Given the description of an element on the screen output the (x, y) to click on. 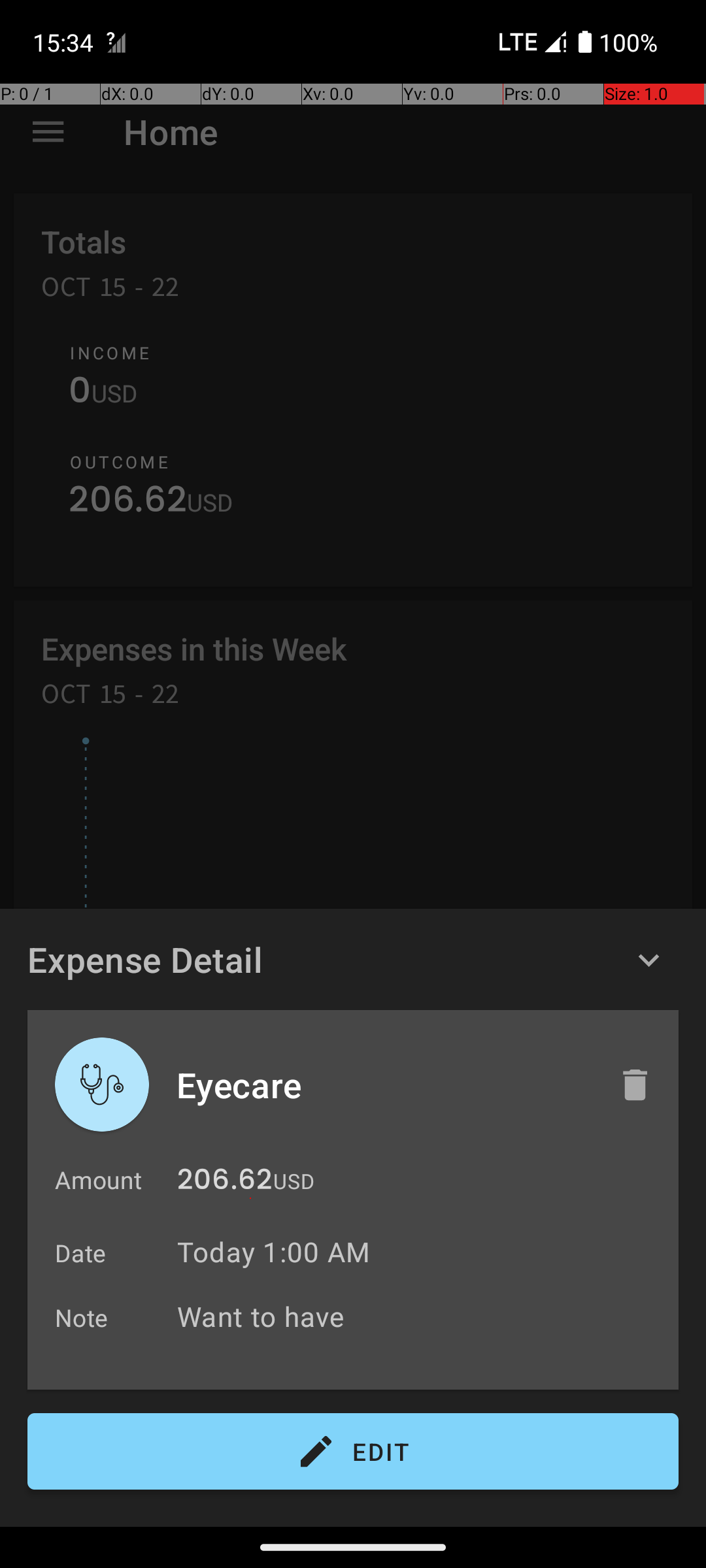
206.62 Element type: android.widget.TextView (224, 1182)
Today 1:00 AM Element type: android.widget.TextView (273, 1251)
